Given the description of an element on the screen output the (x, y) to click on. 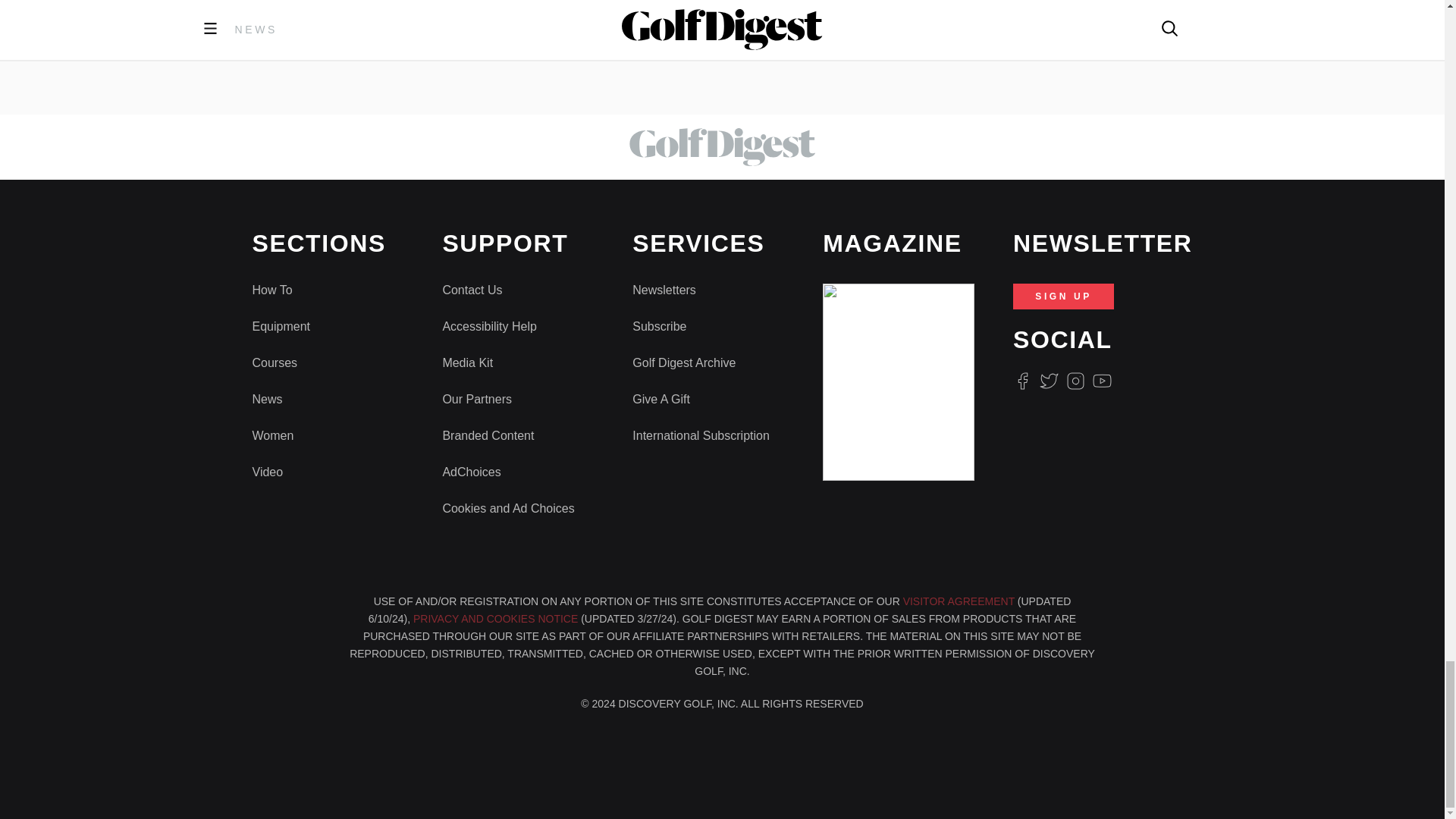
Facebook Logo (1022, 380)
Instagram Logo (1074, 380)
Youtube Icon (1102, 380)
Twitter Logo (1048, 380)
